Given the description of an element on the screen output the (x, y) to click on. 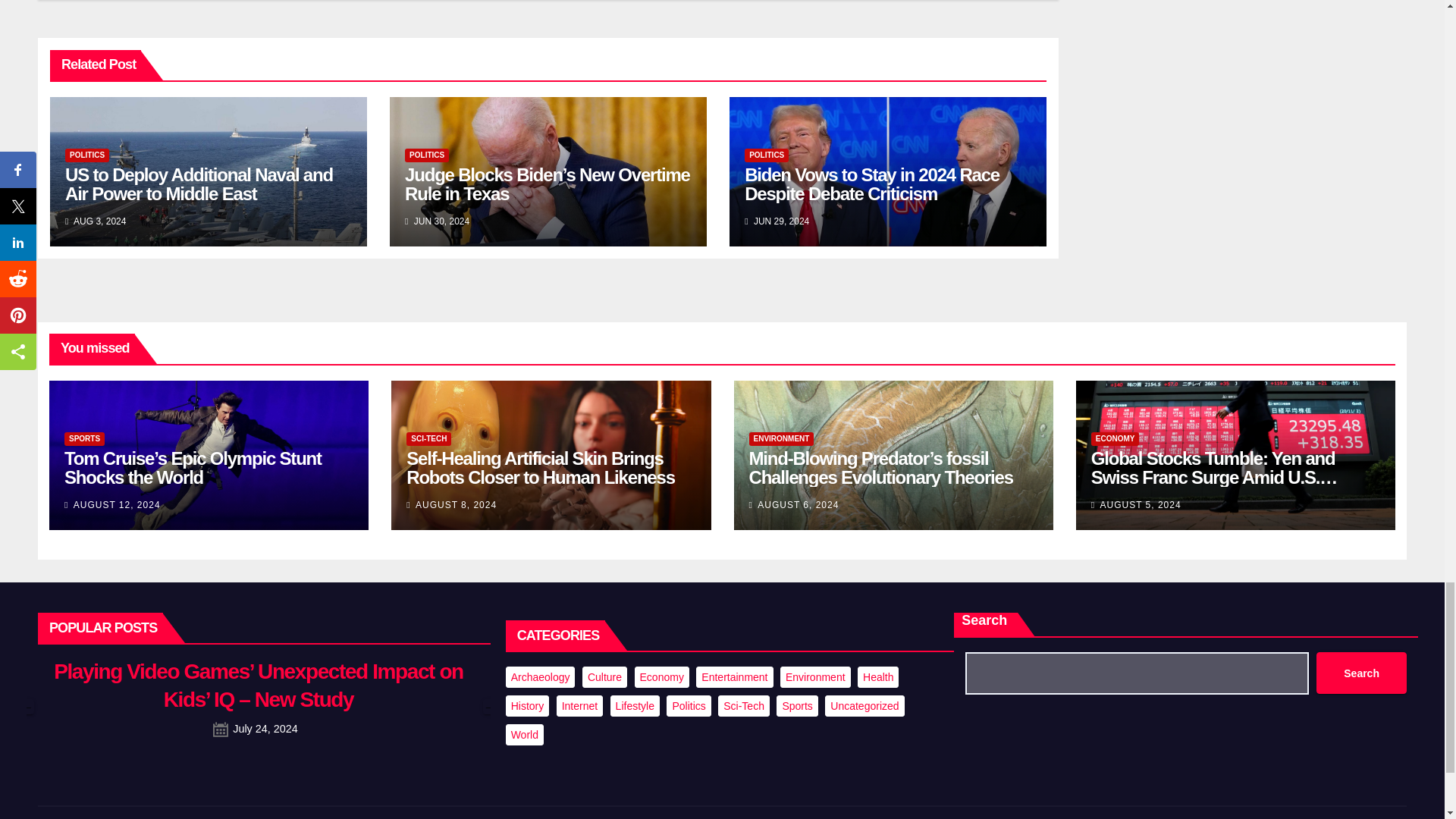
US to Deploy Additional Naval and Air Power to Middle East (199, 183)
Biden Vows to Stay in 2024 Race Despite Debate Criticism (871, 183)
POLITICS (426, 155)
POLITICS (87, 155)
POLITICS (766, 155)
